Given the description of an element on the screen output the (x, y) to click on. 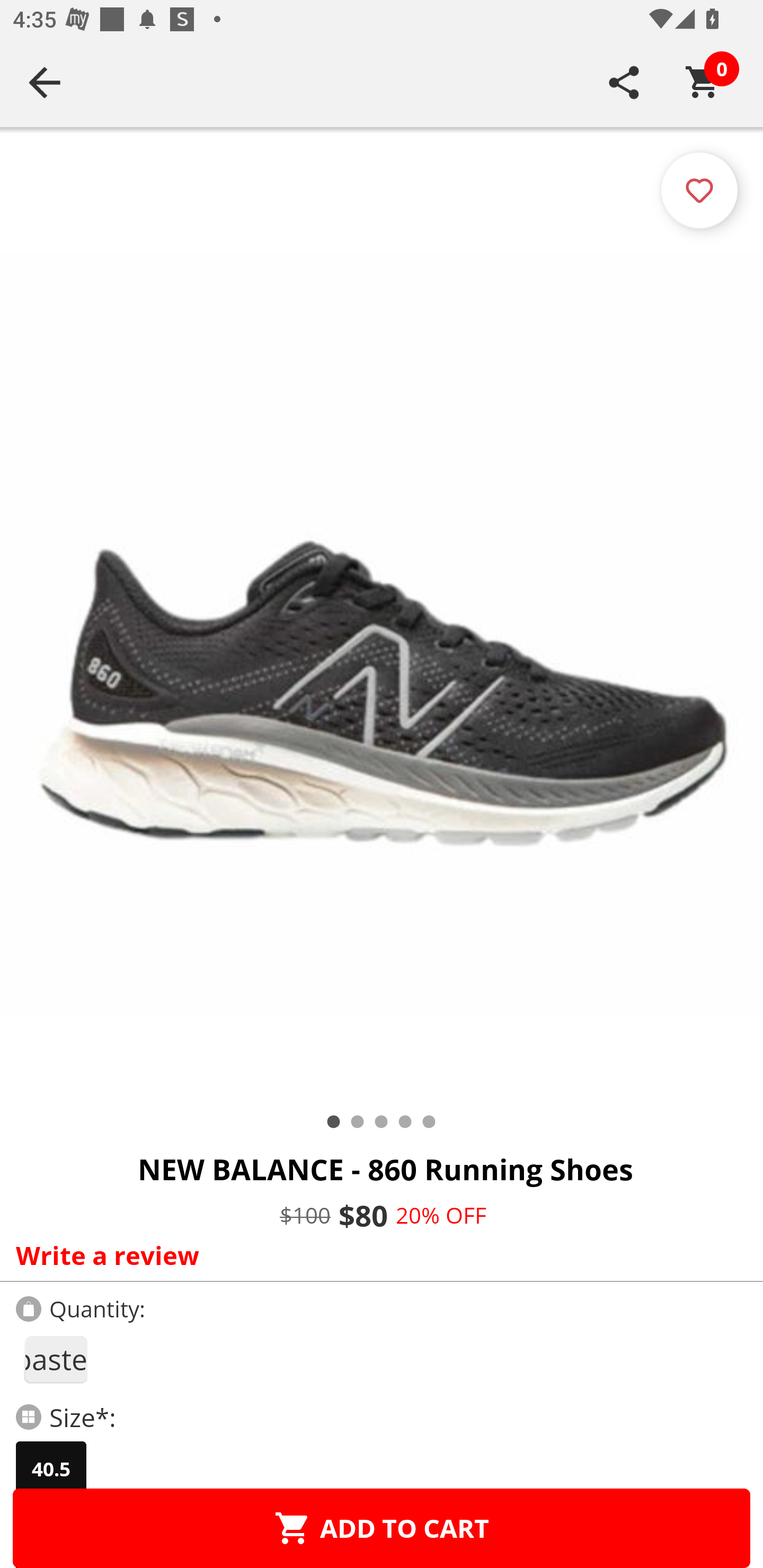
Navigate up (44, 82)
SHARE (623, 82)
Cart (703, 81)
Write a review (377, 1255)
1toothpaste (55, 1358)
40.5 (51, 1468)
ADD TO CART (381, 1528)
